Given the description of an element on the screen output the (x, y) to click on. 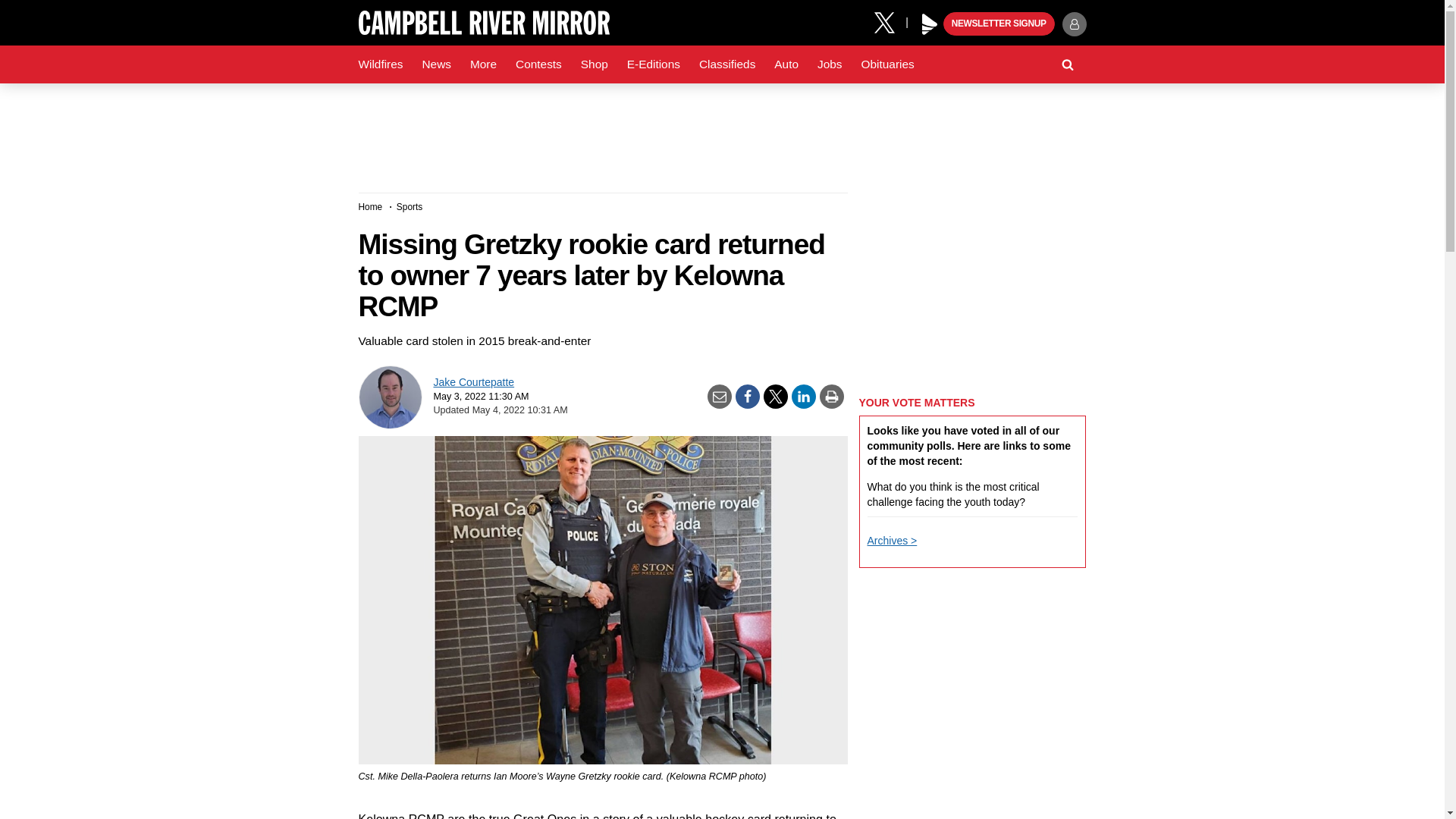
X (889, 21)
Wildfires (380, 64)
Play (929, 24)
News (435, 64)
Black Press Media (929, 24)
NEWSLETTER SIGNUP (998, 24)
